Given the description of an element on the screen output the (x, y) to click on. 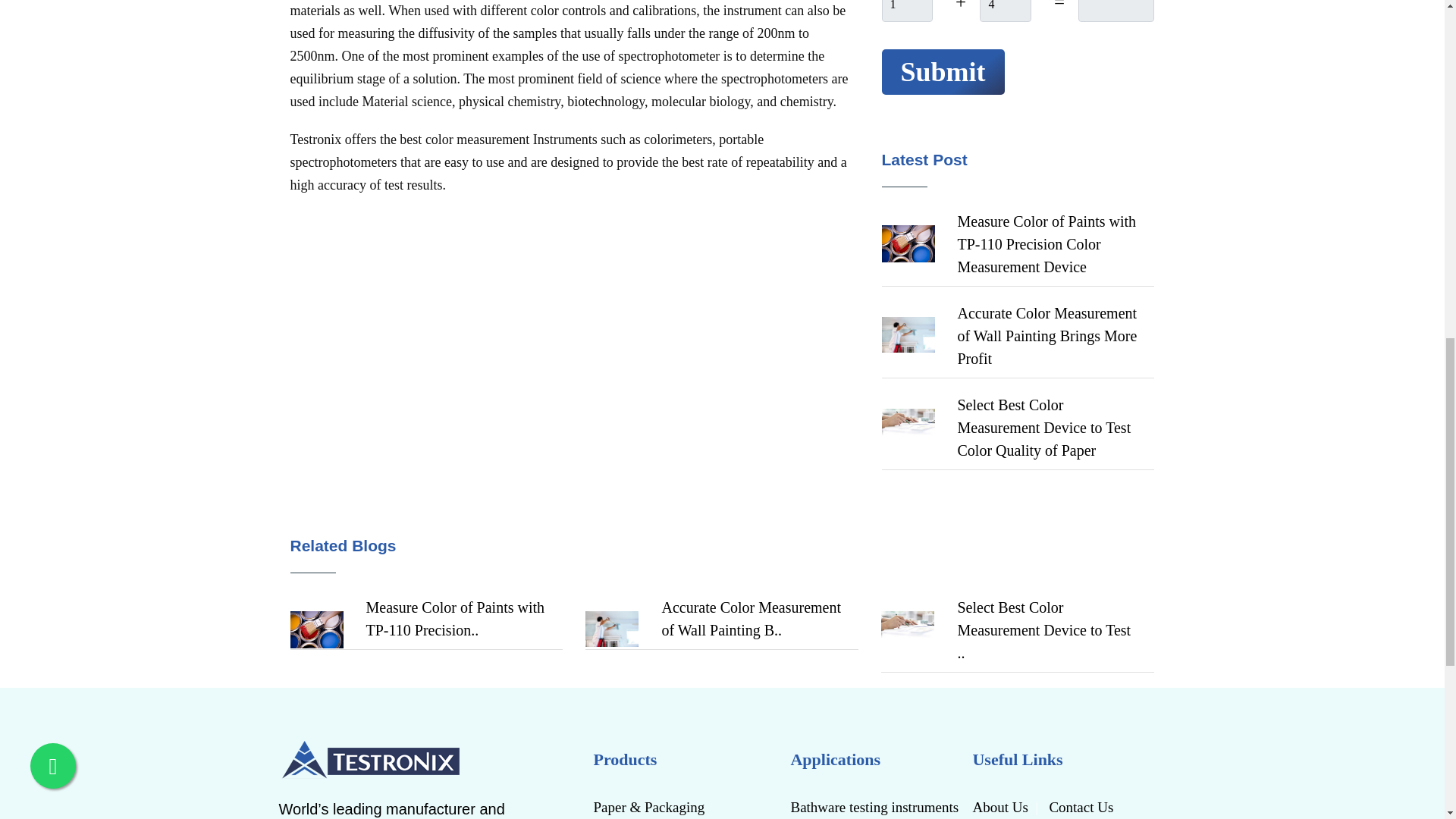
Measure Color of Paints with TP-110 Precision.. (454, 618)
Applications (875, 759)
Submit (942, 72)
4 (1004, 11)
1 (905, 11)
Select Best Color Measurement Device to Test .. (1043, 629)
Bathware testing instruments (875, 806)
Accurate Color Measurement of Wall Painting B.. (751, 618)
